Given the description of an element on the screen output the (x, y) to click on. 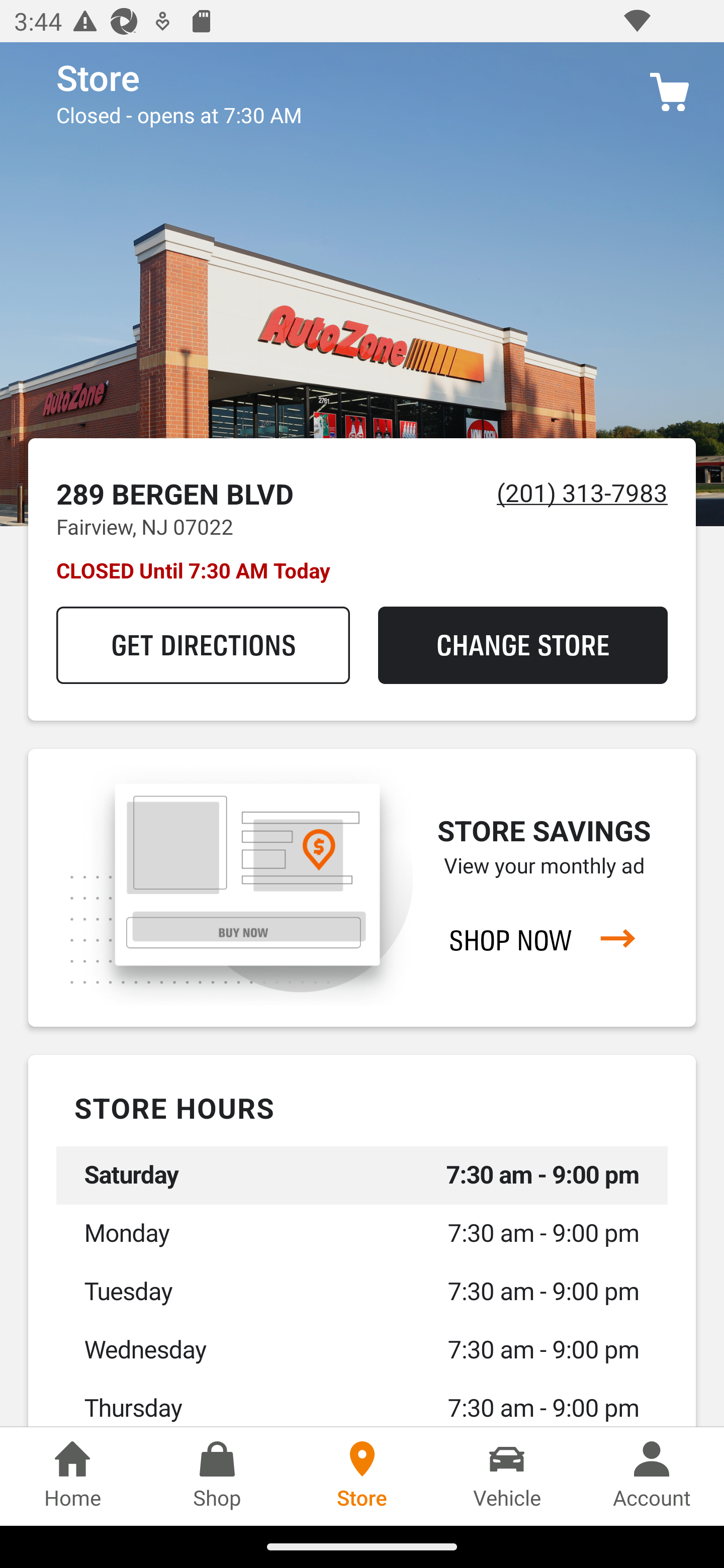
Get Directions GET DIRECTIONS (202, 644)
Change Selected Store CHANGE STORE (522, 644)
Home (72, 1475)
Shop (216, 1475)
Store (361, 1475)
Vehicle (506, 1475)
Account (651, 1475)
